Given the description of an element on the screen output the (x, y) to click on. 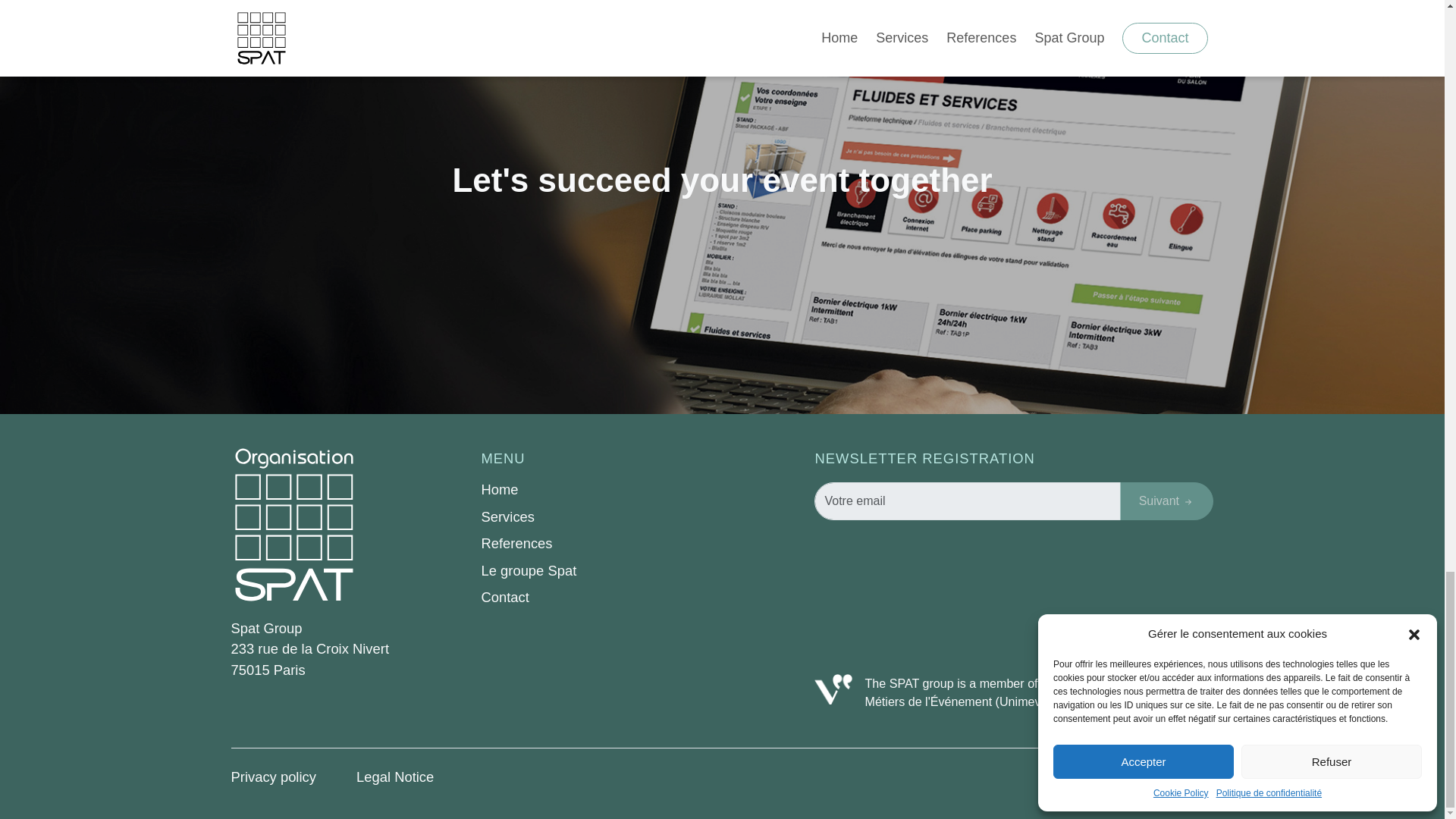
Privacy policy (275, 776)
Home (596, 489)
Services (596, 516)
Le groupe Spat (596, 570)
References (596, 543)
Legal Notice (394, 776)
Contact (596, 597)
Suivant (1166, 501)
